Given the description of an element on the screen output the (x, y) to click on. 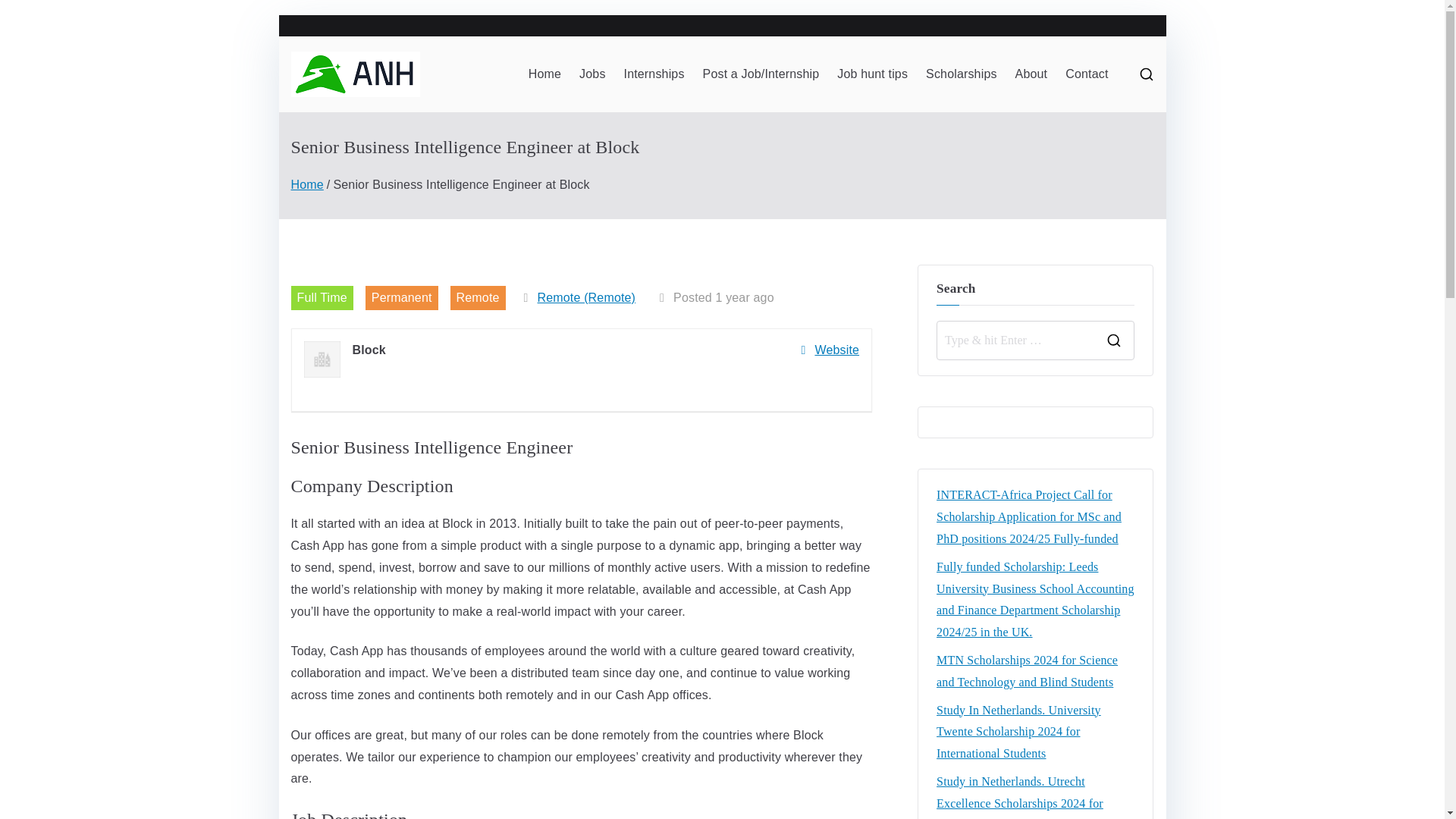
Search (26, 12)
Website (829, 350)
Job hunt tips (872, 74)
Contact (1086, 74)
Home (307, 184)
Always Never Home (580, 93)
About (1031, 74)
Home (544, 74)
Search for: (1015, 340)
